Given the description of an element on the screen output the (x, y) to click on. 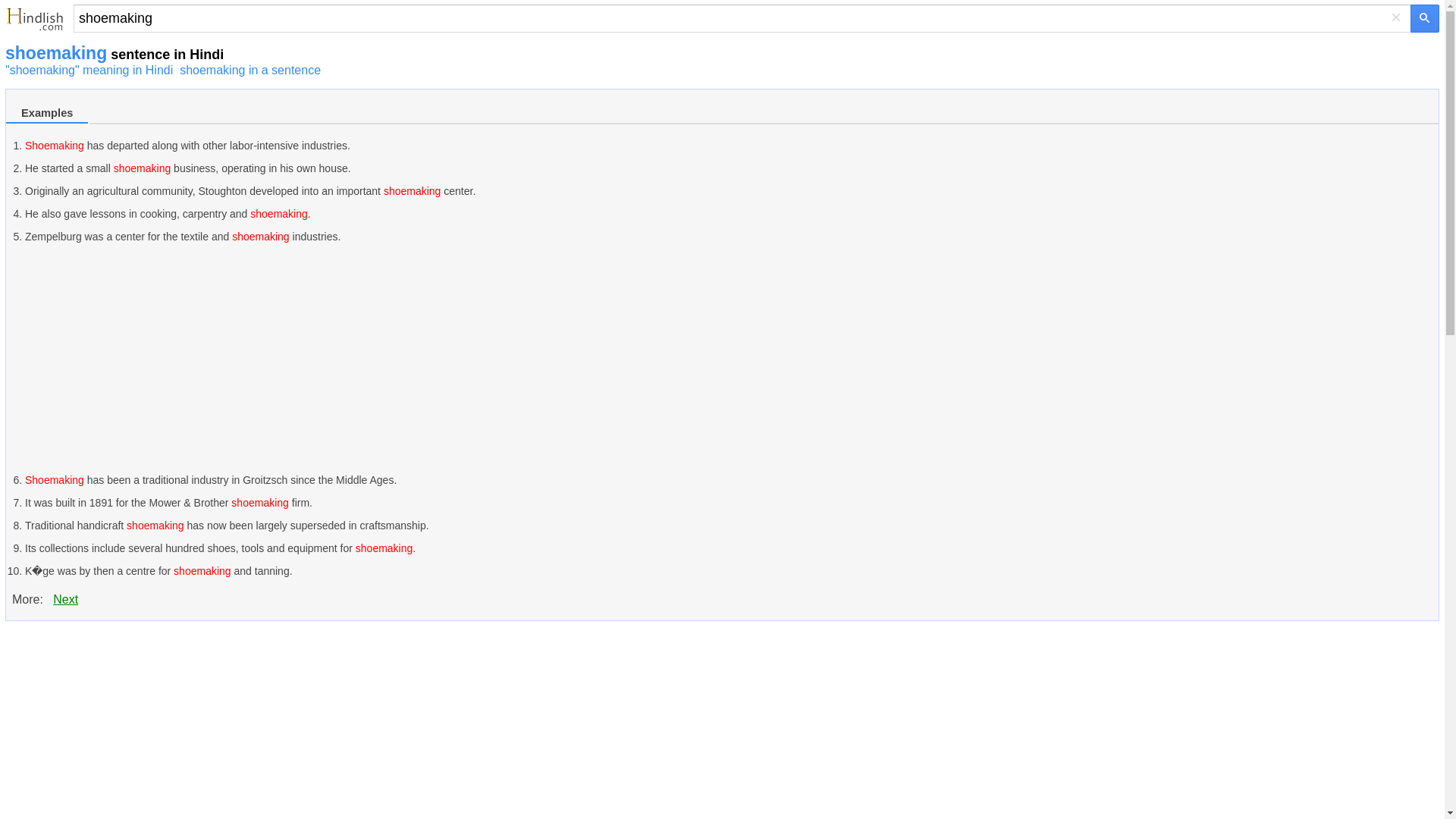
shoemaking in a sentence (249, 69)
shoemaking meaning in Hindi (89, 69)
Examples (46, 113)
Advertisement (132, 726)
Next (65, 599)
"shoemaking" meaning in Hindi (89, 69)
Search (742, 17)
shoemaking (742, 17)
